Given the description of an element on the screen output the (x, y) to click on. 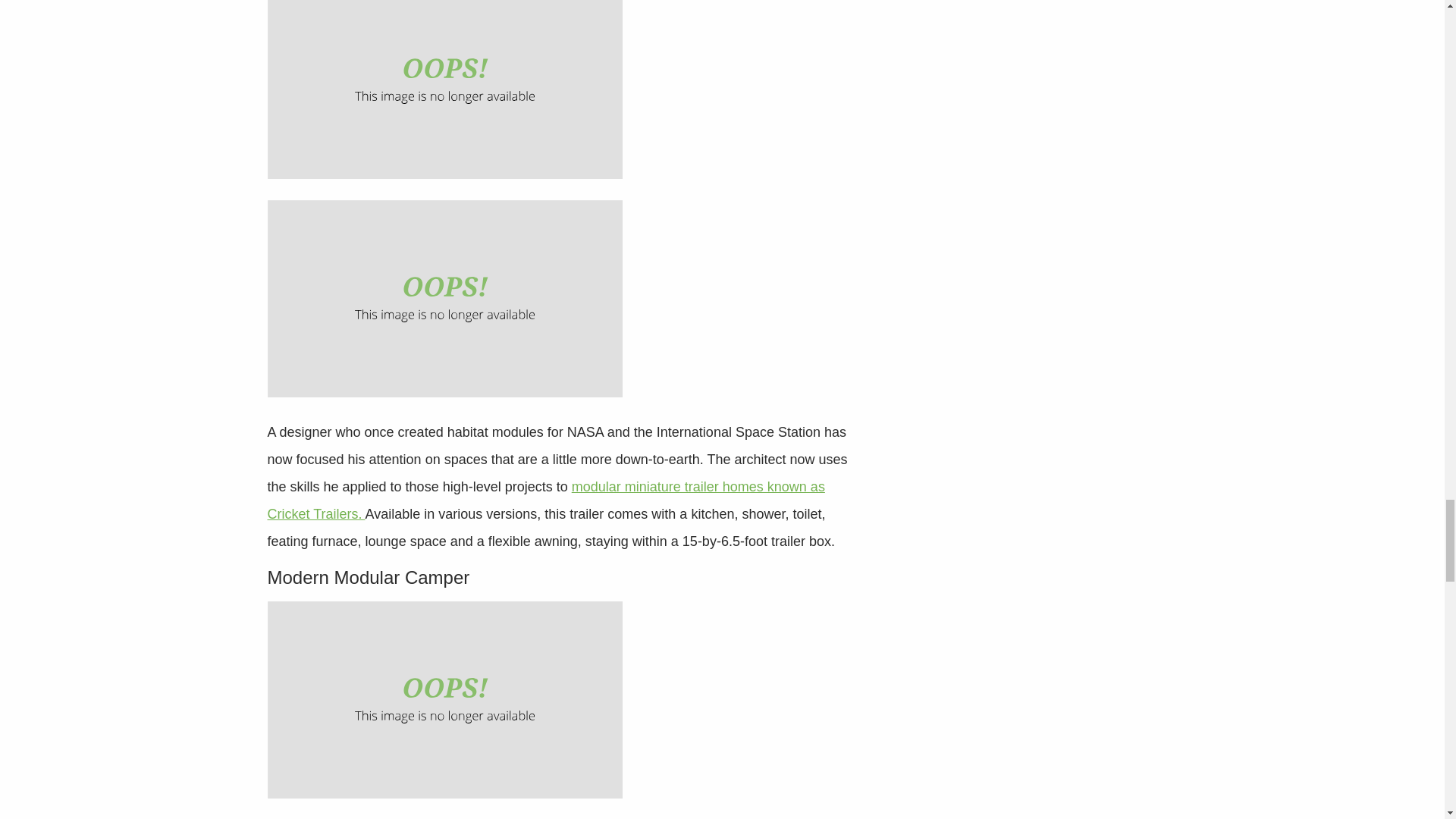
modular miniature trailer homes known as Cricket Trailers. (545, 500)
Crazy Campers Modular 1 (443, 699)
Crazy Campers NASA2 (443, 298)
Crazy Campers NASA 1 (443, 89)
